Given the description of an element on the screen output the (x, y) to click on. 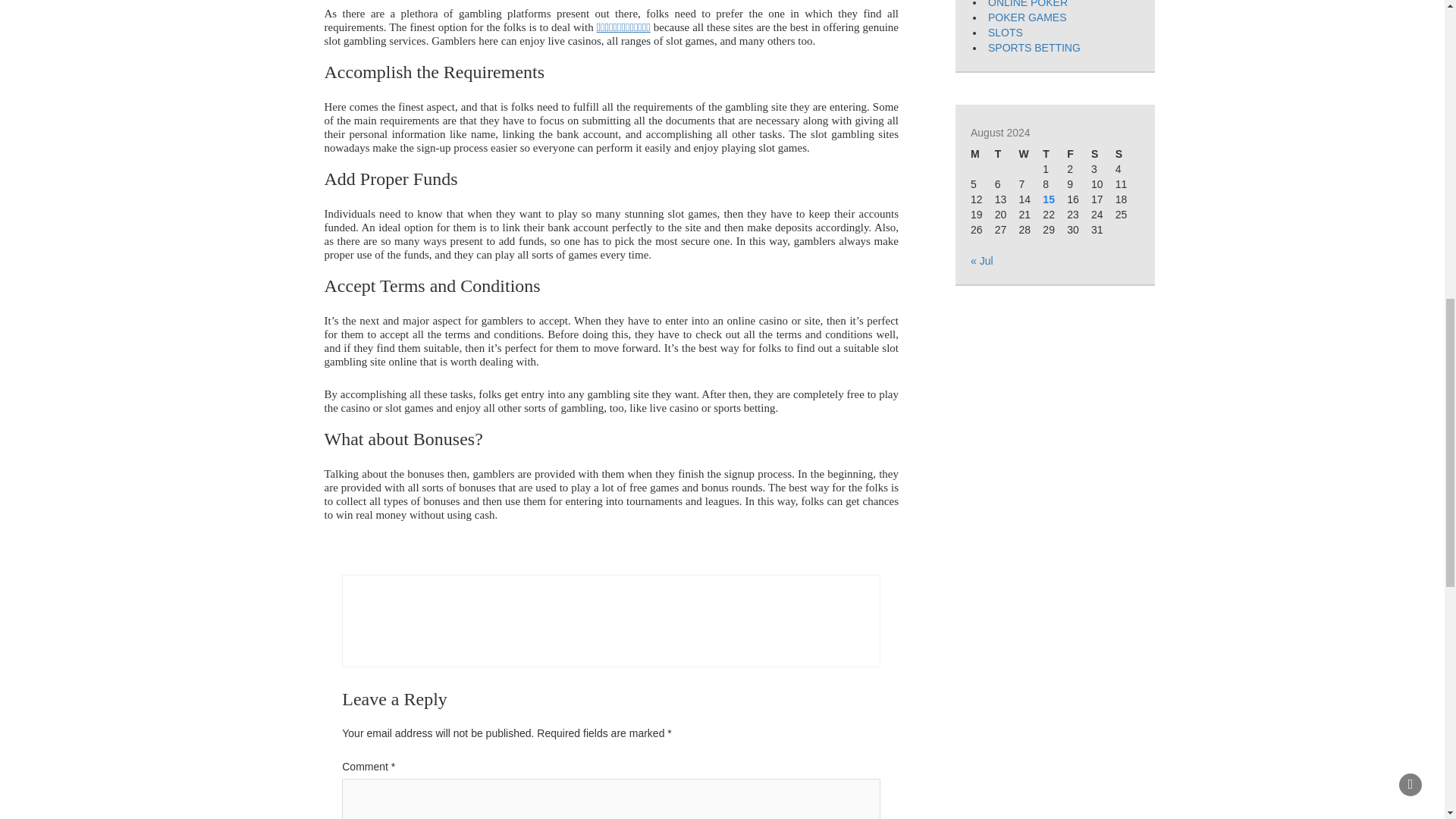
Tuesday (1006, 154)
SPORTS BETTING (1034, 47)
POKER GAMES (1026, 17)
Saturday (1102, 154)
SLOTS (1005, 32)
Monday (982, 154)
Thursday (1054, 154)
Friday (1078, 154)
Sunday (1127, 154)
ONLINE POKER (1027, 4)
